Given the description of an element on the screen output the (x, y) to click on. 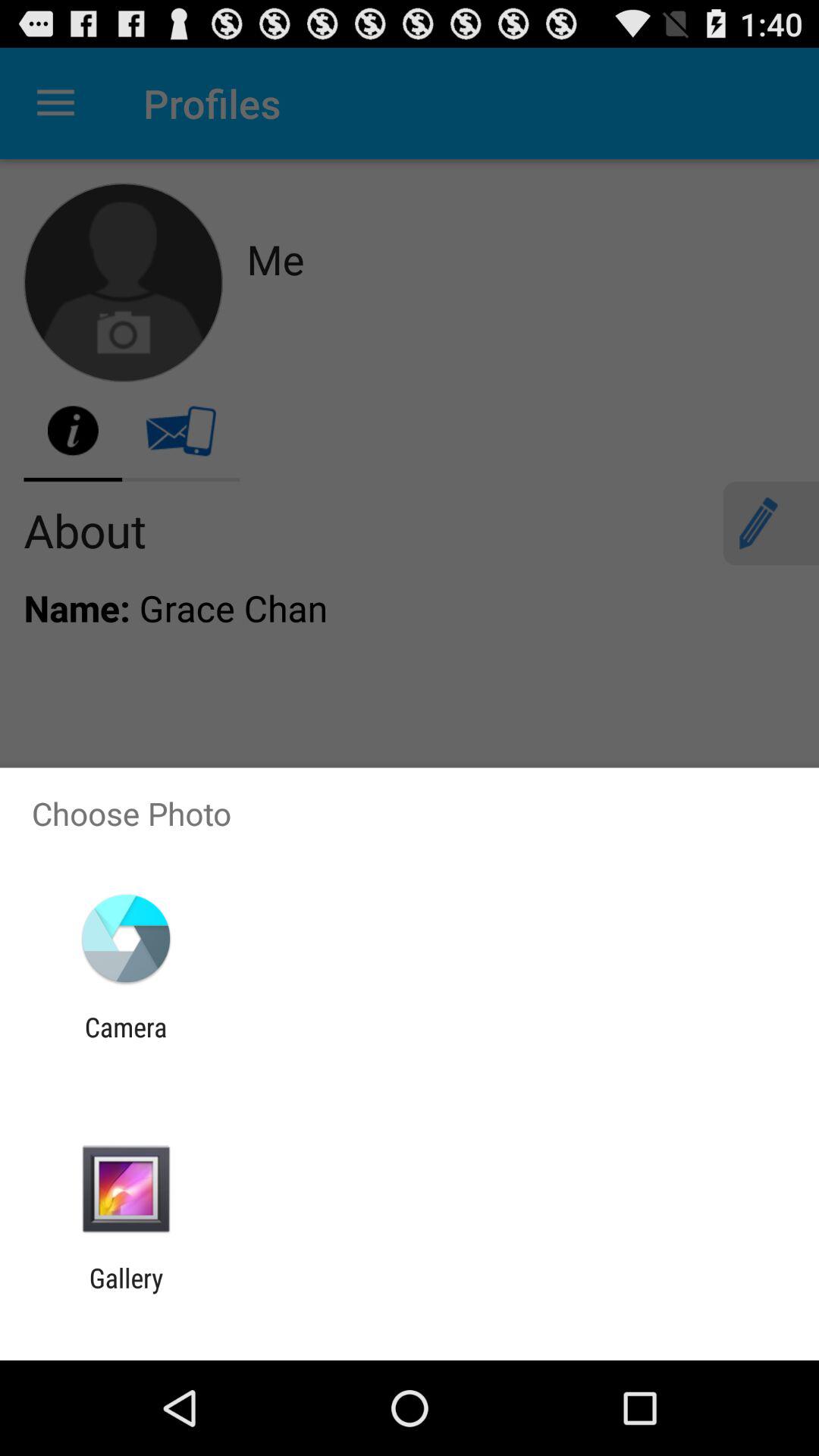
flip until the gallery app (126, 1293)
